Given the description of an element on the screen output the (x, y) to click on. 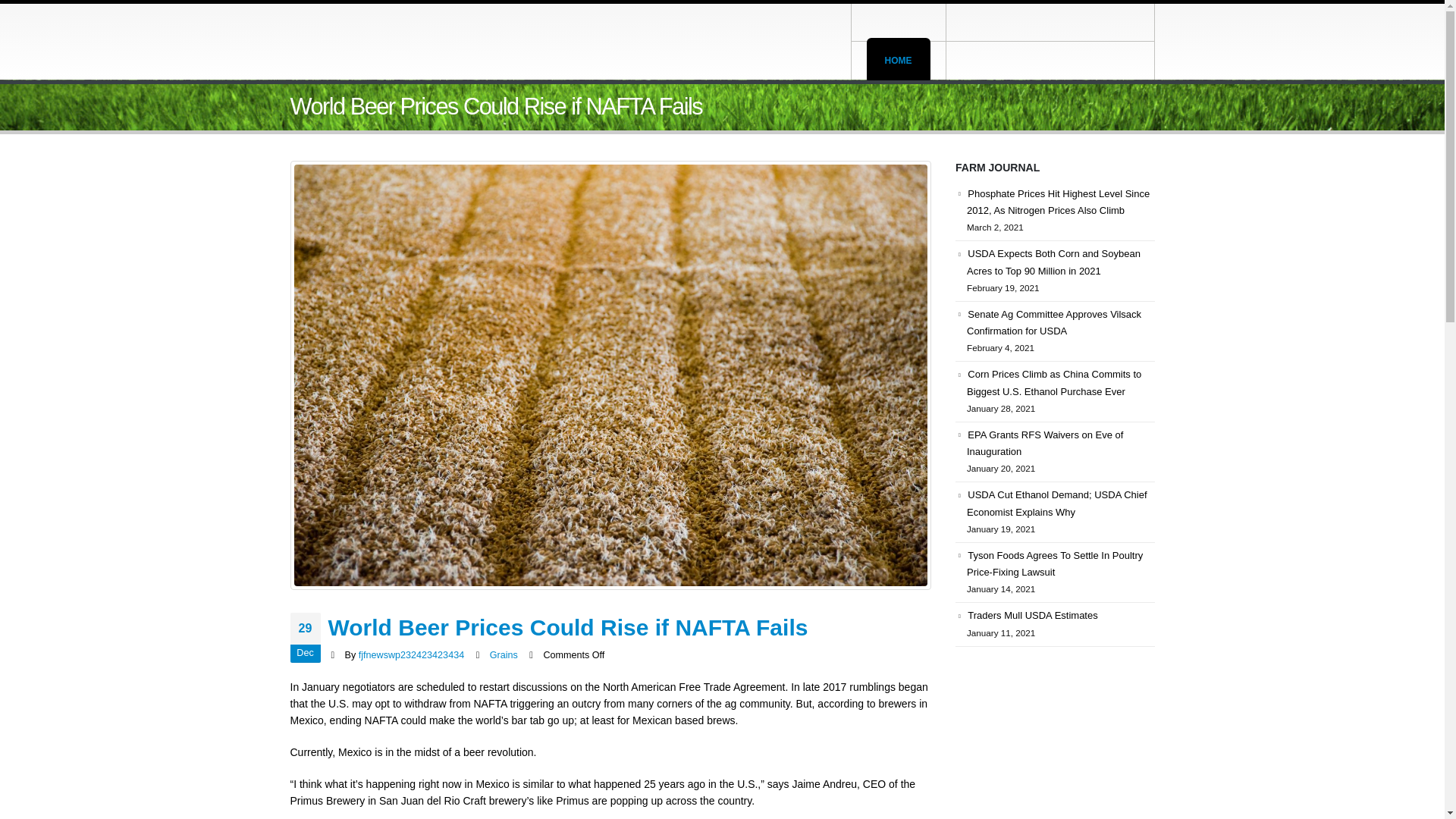
Posts by fjfnewswp232423423434 (411, 655)
fjfnewswp232423423434 (411, 655)
HOME (898, 60)
Grains (503, 655)
